Given the description of an element on the screen output the (x, y) to click on. 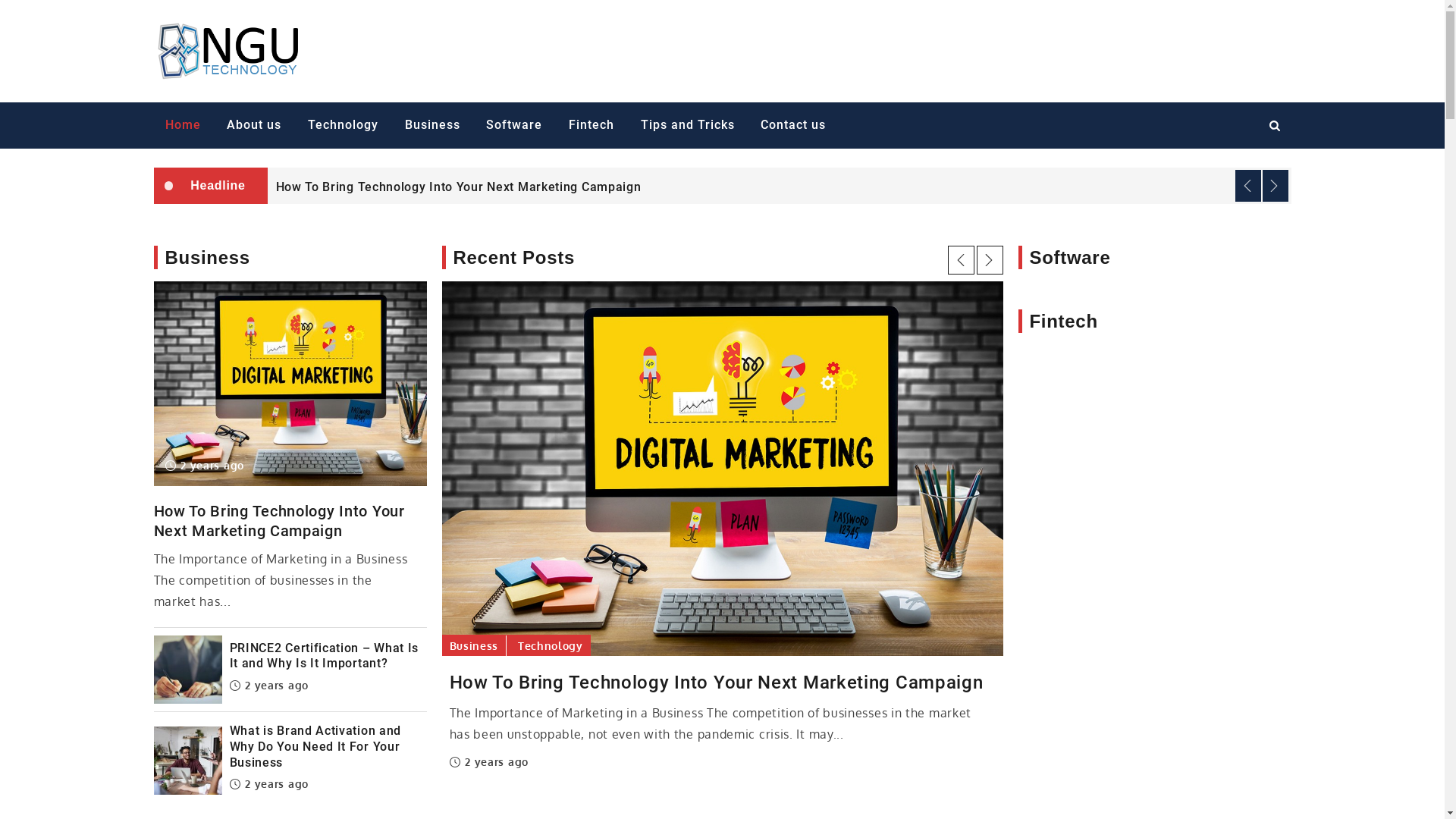
Next Element type: text (1274, 185)
2 years ago Element type: text (268, 684)
Business Element type: text (432, 125)
Tips and Tricks Element type: text (687, 125)
How To Bring Technology Into Your Next Marketing Campaign Element type: text (283, 520)
About us Element type: text (253, 125)
Previous Element type: text (1247, 185)
Next Element type: text (989, 259)
Previous Element type: text (960, 259)
How To Bring Technology Into Your Next Marketing Campaign Element type: text (458, 186)
Fintech Element type: text (591, 125)
Technology Element type: text (550, 645)
Home Element type: text (182, 125)
NGU Technology Element type: text (412, 36)
Business Element type: text (473, 645)
How To Bring Technology Into Your Next Marketing Campaign Element type: text (721, 682)
2 years ago Element type: text (487, 761)
Technology Element type: text (342, 125)
Contact us Element type: text (793, 125)
2 years ago Element type: text (204, 464)
Software Element type: text (513, 125)
2 years ago Element type: text (268, 783)
